Given the description of an element on the screen output the (x, y) to click on. 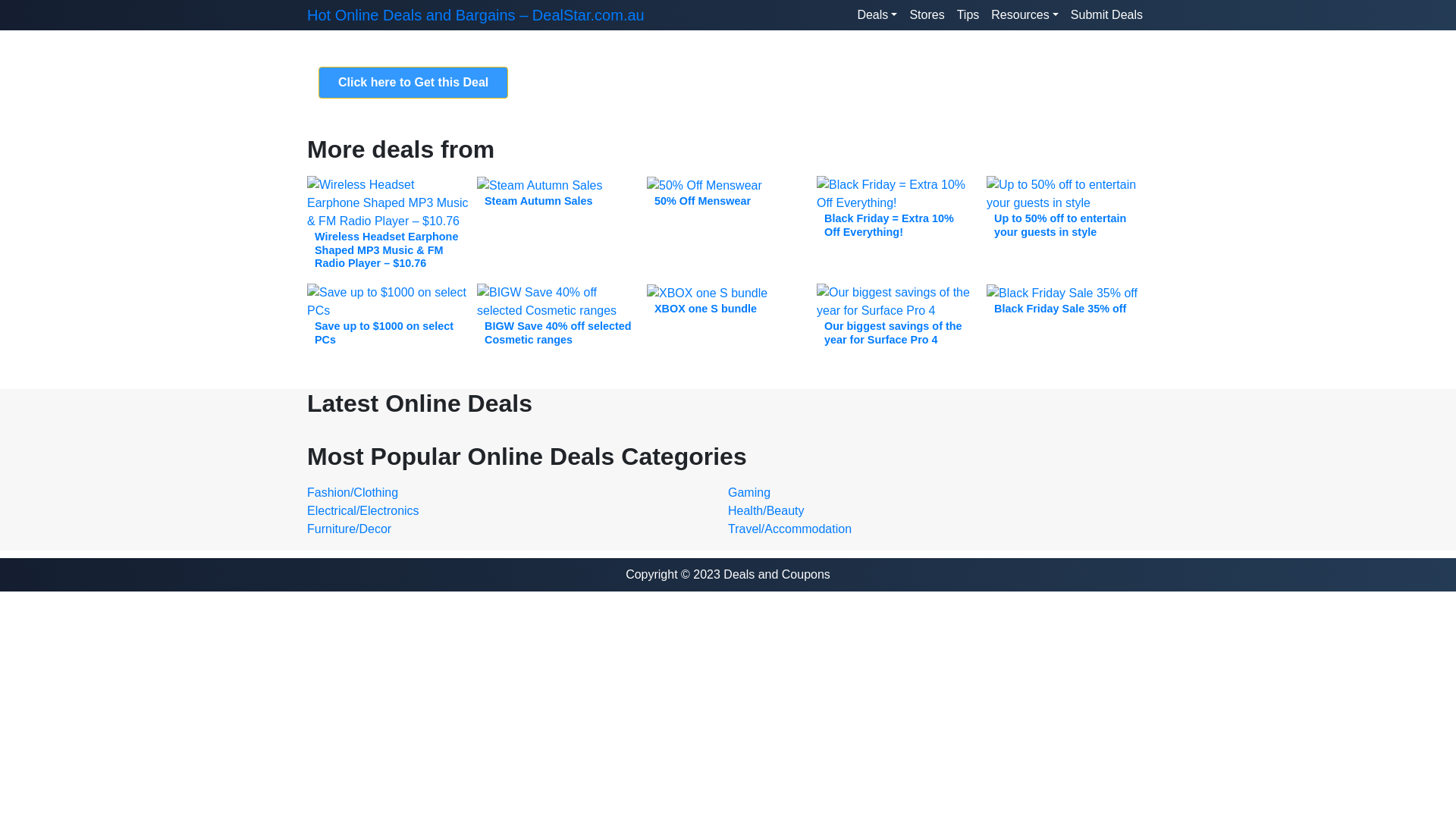
Gaming Element type: text (749, 492)
Our biggest savings of the year for Surface Pro 4 Element type: text (897, 319)
Furniture/Decor Element type: text (349, 528)
Tips Element type: text (967, 15)
Fashion/Clothing Element type: text (352, 492)
Submit Deals Element type: text (1106, 15)
Steam Autumn Sales Element type: text (557, 192)
Black Friday = Extra 10% Off Everything! Element type: text (897, 212)
50% Off Menswear Element type: text (727, 192)
Click here to Get this Deal Element type: text (413, 82)
BIGW Save 40% off selected Cosmetic ranges Element type: text (557, 319)
Electrical/Electronics Element type: text (363, 510)
Travel/Accommodation Element type: text (789, 528)
Save up to $1000 on select PCs Element type: text (388, 319)
Resources Element type: text (1024, 15)
Health/Beauty Element type: text (766, 510)
XBOX one S bundle Element type: text (727, 300)
Up to 50% off to entertain your guests in style Element type: text (1067, 212)
Deals Element type: text (876, 15)
Stores Element type: text (926, 15)
Black Friday Sale 35% off Element type: text (1067, 300)
